Given the description of an element on the screen output the (x, y) to click on. 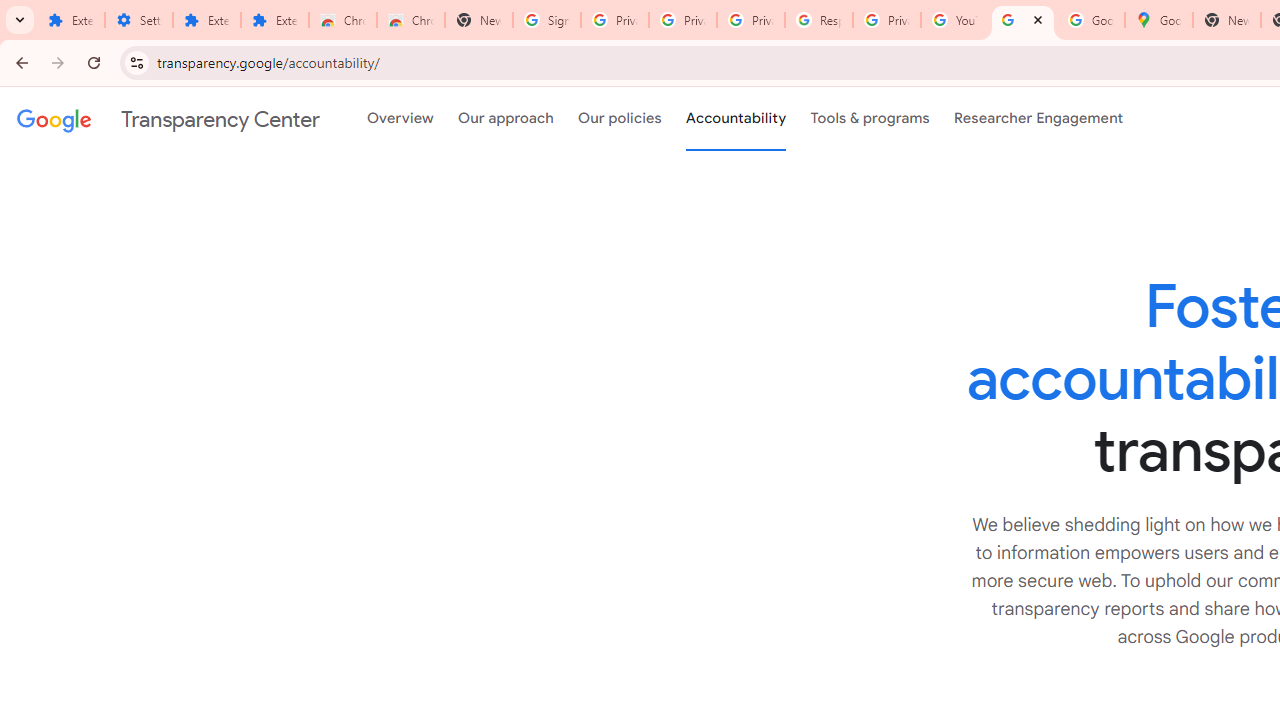
Extensions (206, 20)
Accountability (735, 119)
YouTube (954, 20)
Extensions (274, 20)
Researcher Engagement (1038, 119)
Google Maps (1158, 20)
